Given the description of an element on the screen output the (x, y) to click on. 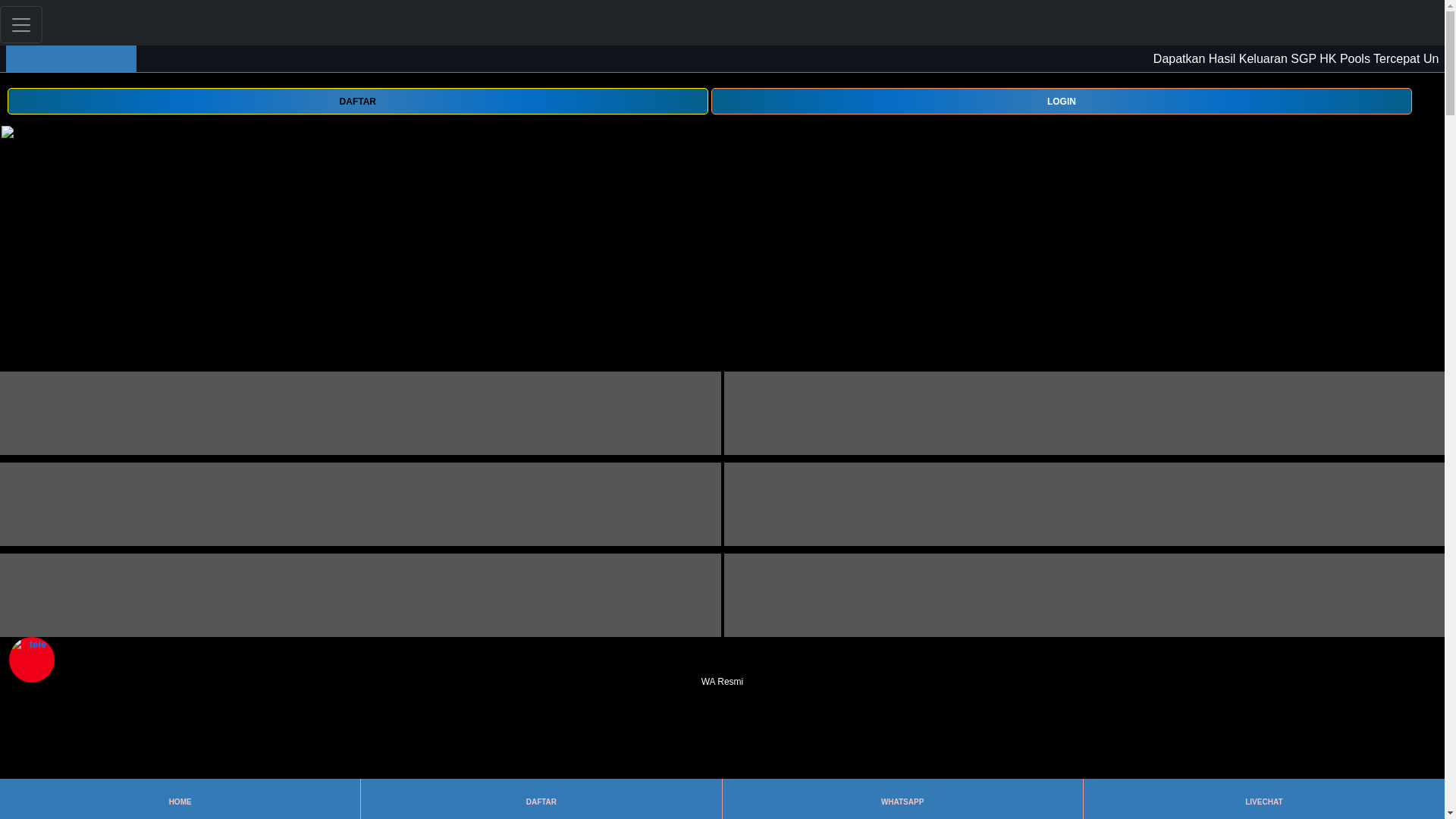
DAFTAR (357, 100)
DAFTAR (540, 798)
LOGIN (1061, 100)
HOME (179, 798)
LIVECHAT (1263, 798)
WA Resmi (722, 672)
WHATSAPP (901, 798)
DAFTAR (357, 100)
LOGIN (1061, 100)
